Given the description of an element on the screen output the (x, y) to click on. 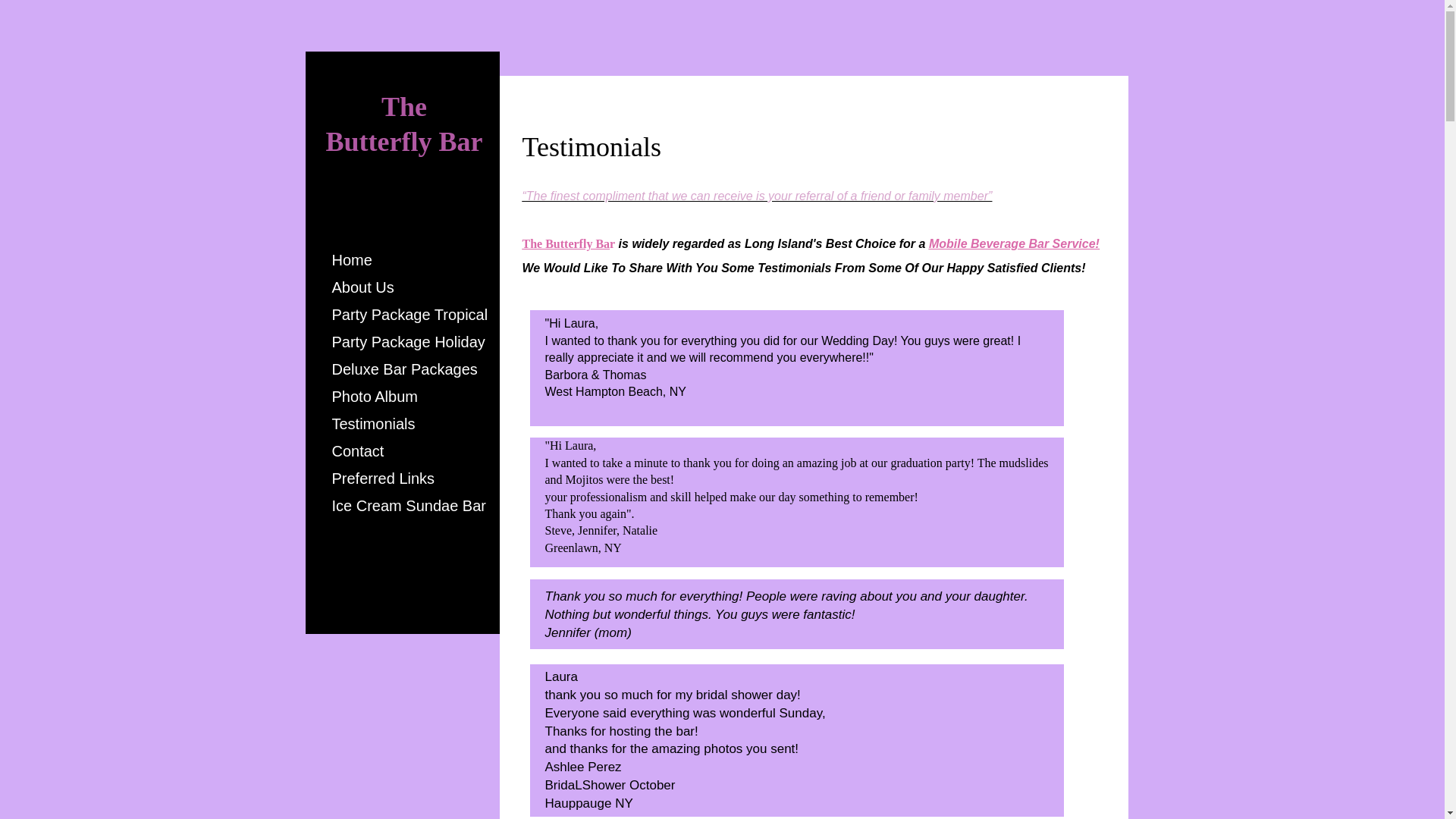
Photo Album (374, 396)
Preferred Links (383, 478)
Party Package Tropical (410, 314)
Ice Cream Sundae Bar (408, 505)
Testimonials (373, 423)
Deluxe Bar Packages (404, 369)
Home (352, 260)
Party Package Holiday (408, 342)
About Us (362, 287)
Contact (357, 451)
